Given the description of an element on the screen output the (x, y) to click on. 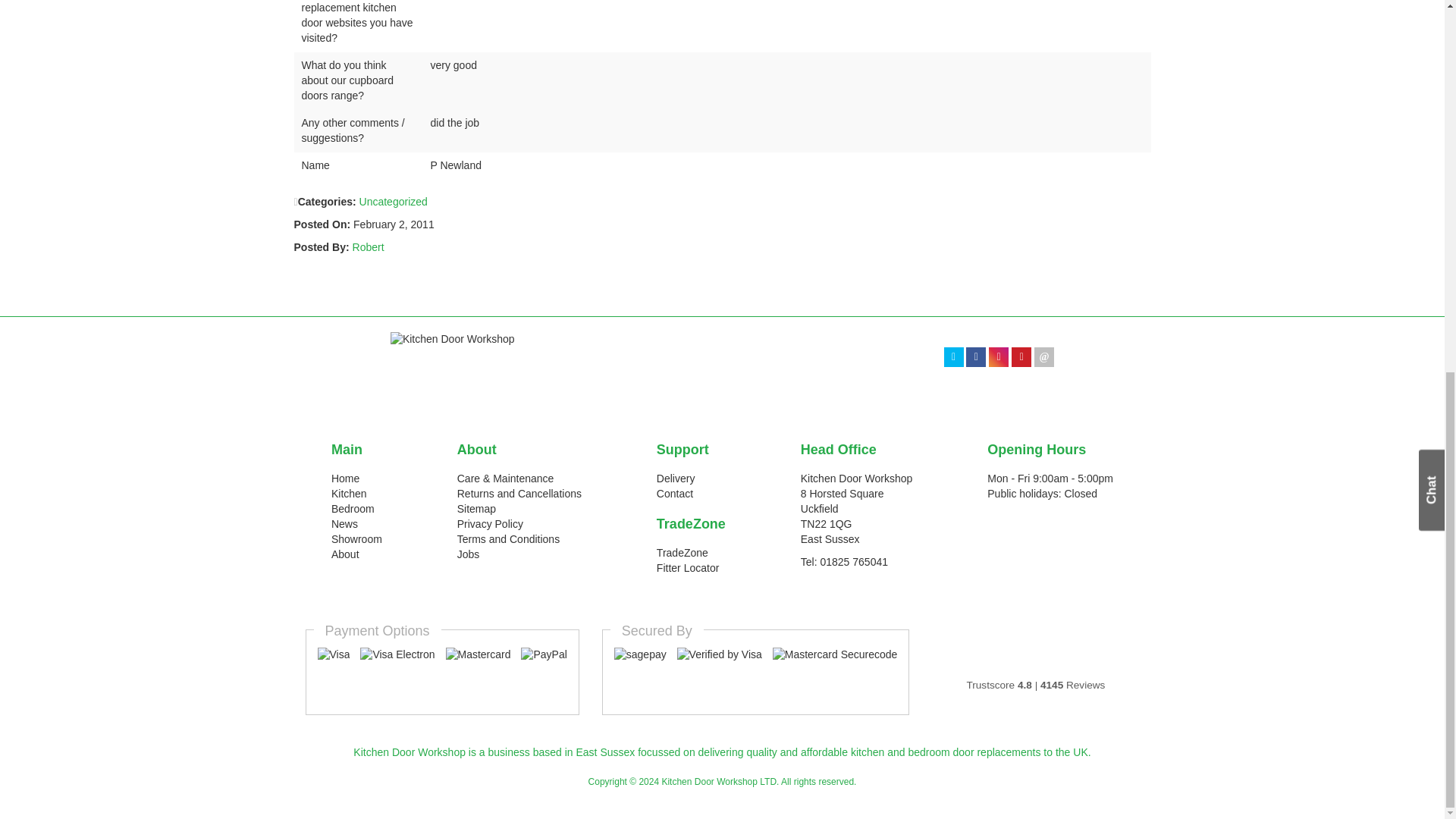
About us (345, 553)
Visit our Showroom (356, 539)
Follow us on Twitter (953, 356)
Find us on Facebook (975, 356)
Kitchen Doors (348, 493)
Kitchen Door Workshop (465, 360)
News, Tips and Articles (344, 523)
Find us on Instagram (998, 356)
Bedroom Doors (352, 508)
Send us an email (1043, 356)
Kitchen Door Workshop Home (345, 478)
View our Pinterest (1020, 356)
